Given the description of an element on the screen output the (x, y) to click on. 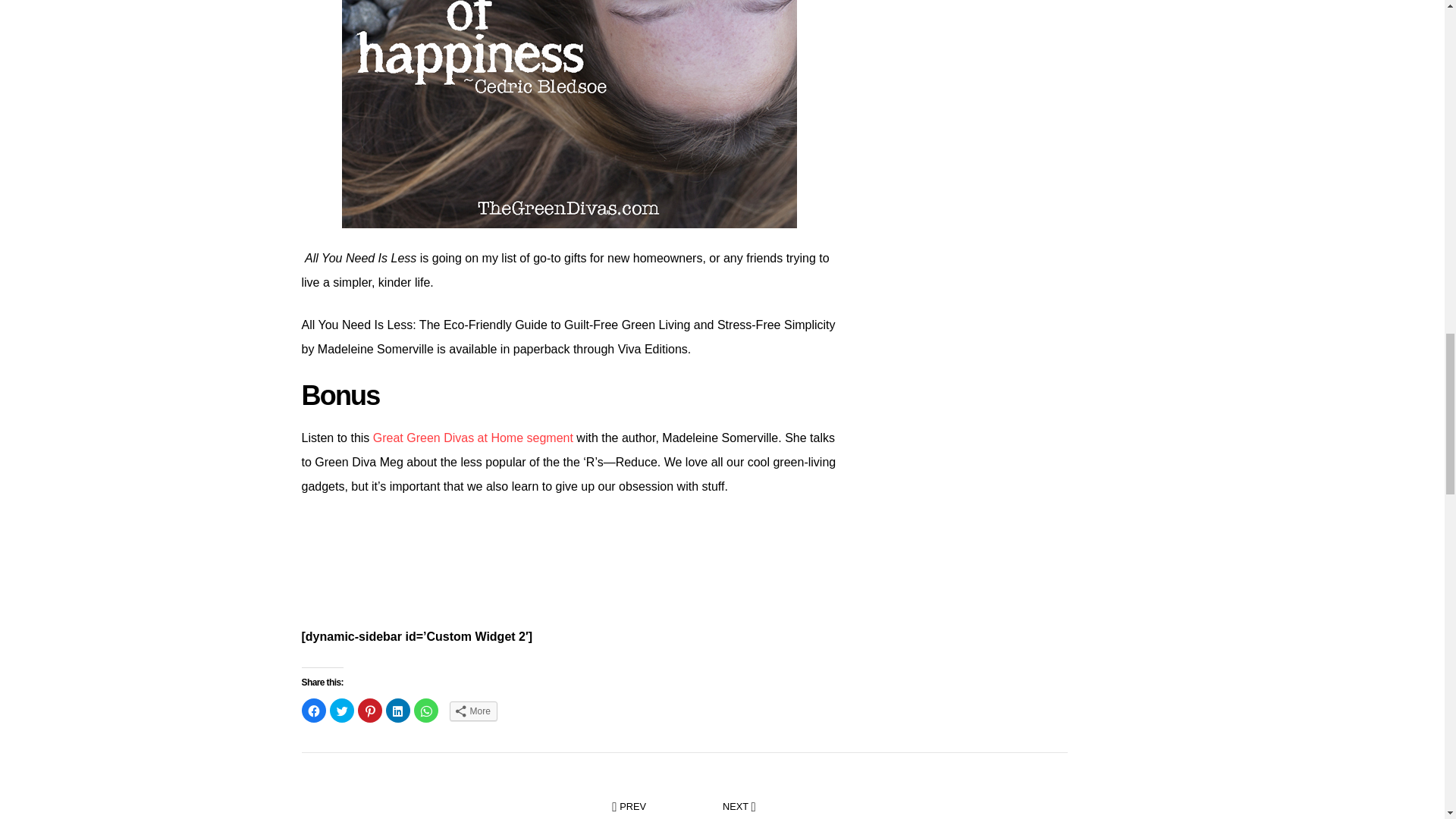
More (472, 711)
Click to share on Facebook (313, 710)
Click to share on LinkedIn (397, 710)
Click to share on WhatsApp (425, 710)
Great Green Divas at Home segment (472, 437)
Click to share on Pinterest (369, 710)
Click to share on Twitter (341, 710)
